Given the description of an element on the screen output the (x, y) to click on. 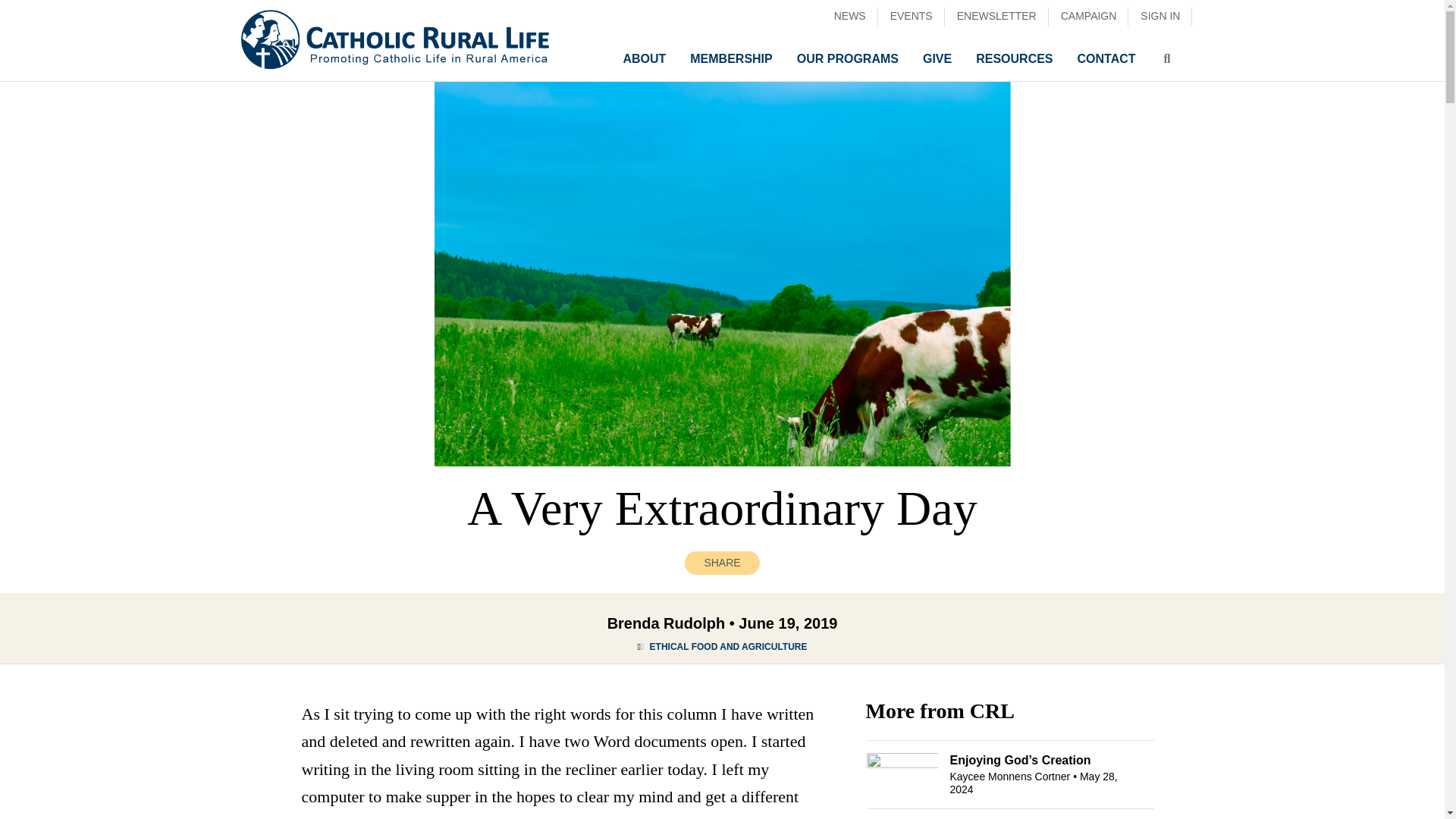
CONTACT (1106, 59)
ABOUT (644, 59)
EVENTS (911, 16)
ENEWSLETTER (996, 16)
CAMPAIGN (1088, 16)
MEMBERSHIP (730, 59)
OUR PROGRAMS (847, 59)
GIVE (937, 59)
RESOURCES (1013, 59)
NEWS (850, 16)
SIGN IN (1159, 16)
